Given the description of an element on the screen output the (x, y) to click on. 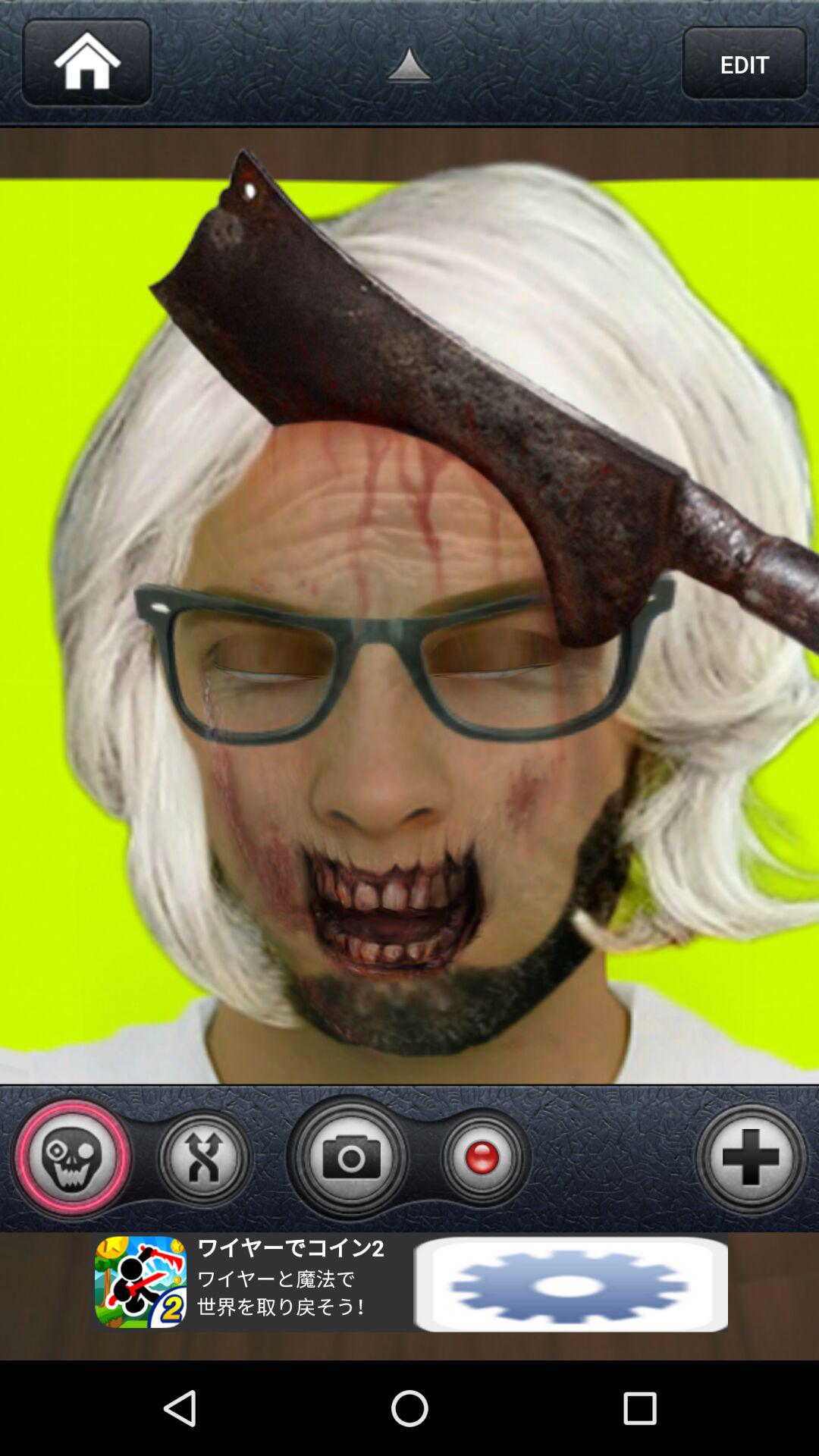
video recording (482, 1157)
